Given the description of an element on the screen output the (x, y) to click on. 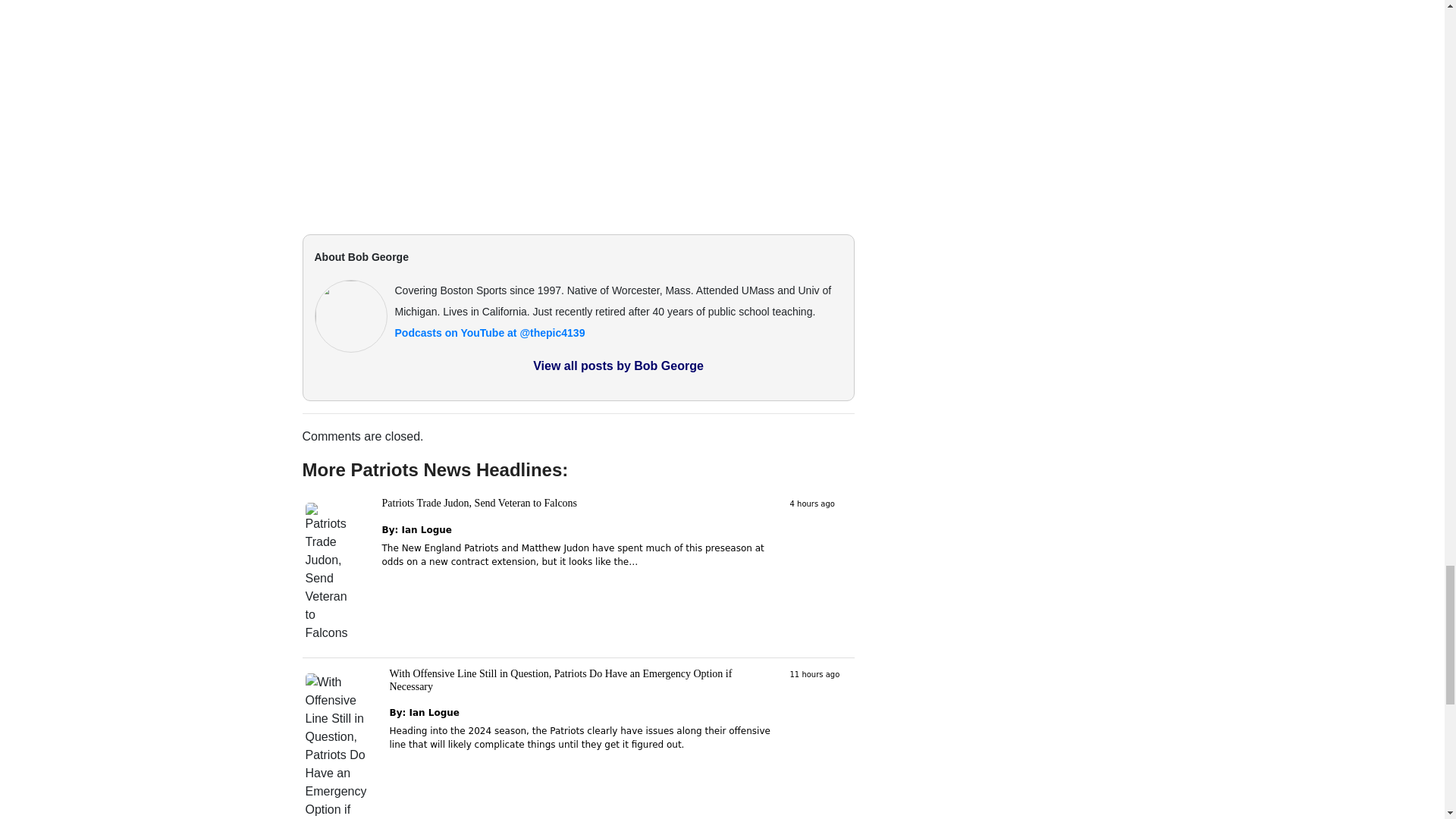
Patriots Trade Judon, Send Veteran to Falcons (479, 502)
Ian Logue (433, 712)
Ian Logue (426, 529)
